Given the description of an element on the screen output the (x, y) to click on. 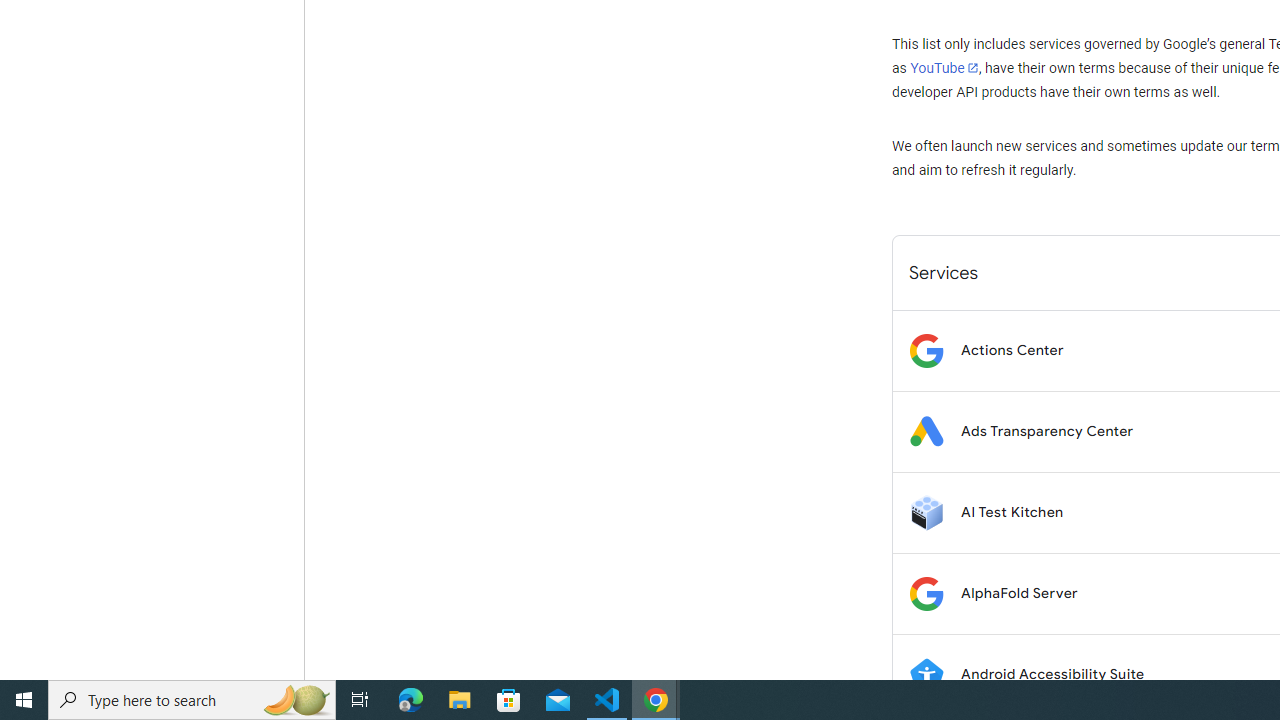
Logo for AlphaFold Server (926, 593)
Logo for Android Accessibility Suite (926, 673)
Logo for AI Test Kitchen (926, 512)
Logo for Actions Center (926, 349)
YouTube (944, 68)
Logo for Ads Transparency Center (926, 431)
